Given the description of an element on the screen output the (x, y) to click on. 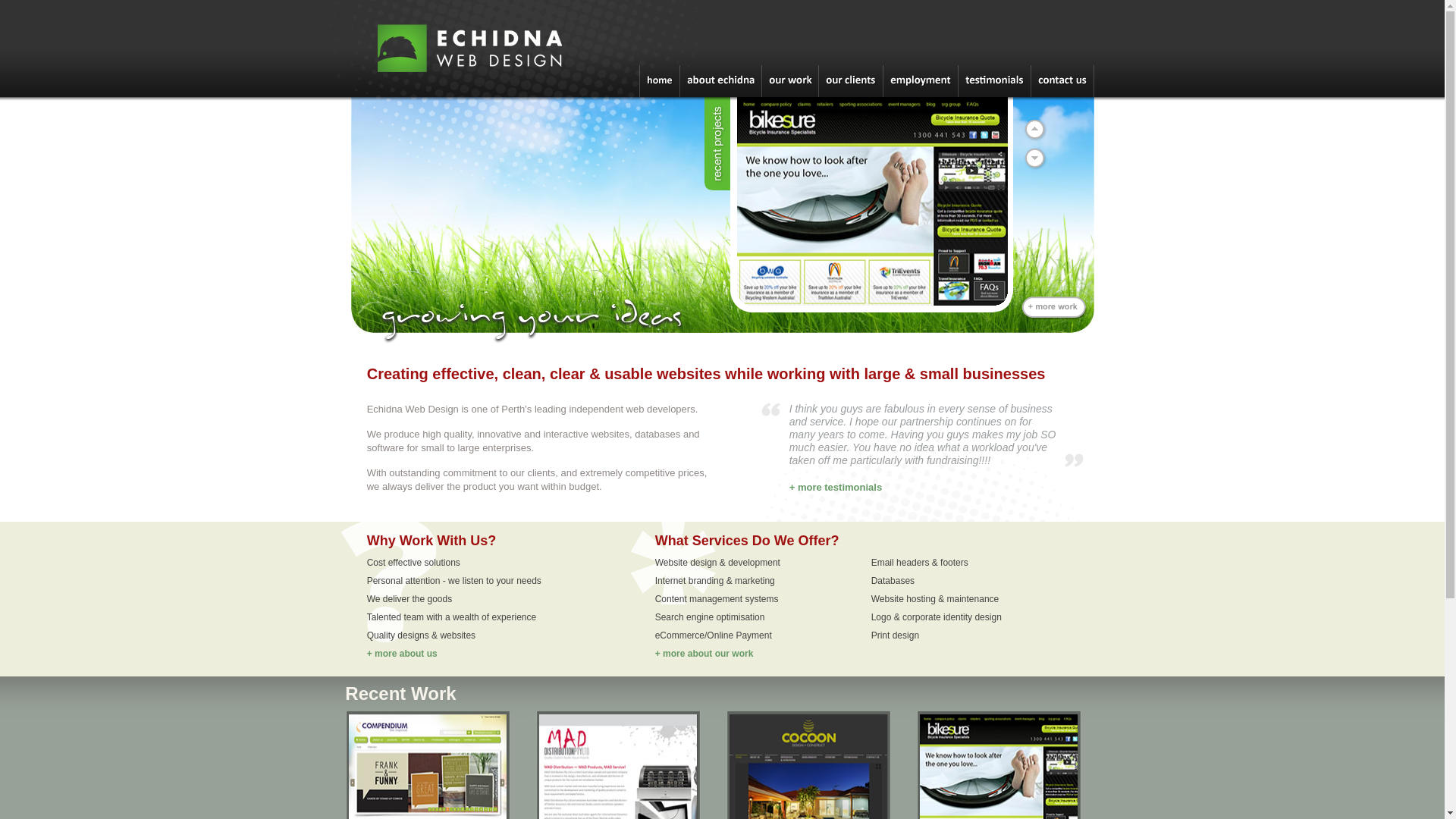
BikeSure Element type: hover (872, 170)
Back to the Echidna Web Design Element type: hover (494, 93)
  Element type: text (870, 205)
+ more about our work Element type: text (704, 653)
+ more testimonials Element type: text (835, 486)
+ more about us Element type: text (402, 653)
